Given the description of an element on the screen output the (x, y) to click on. 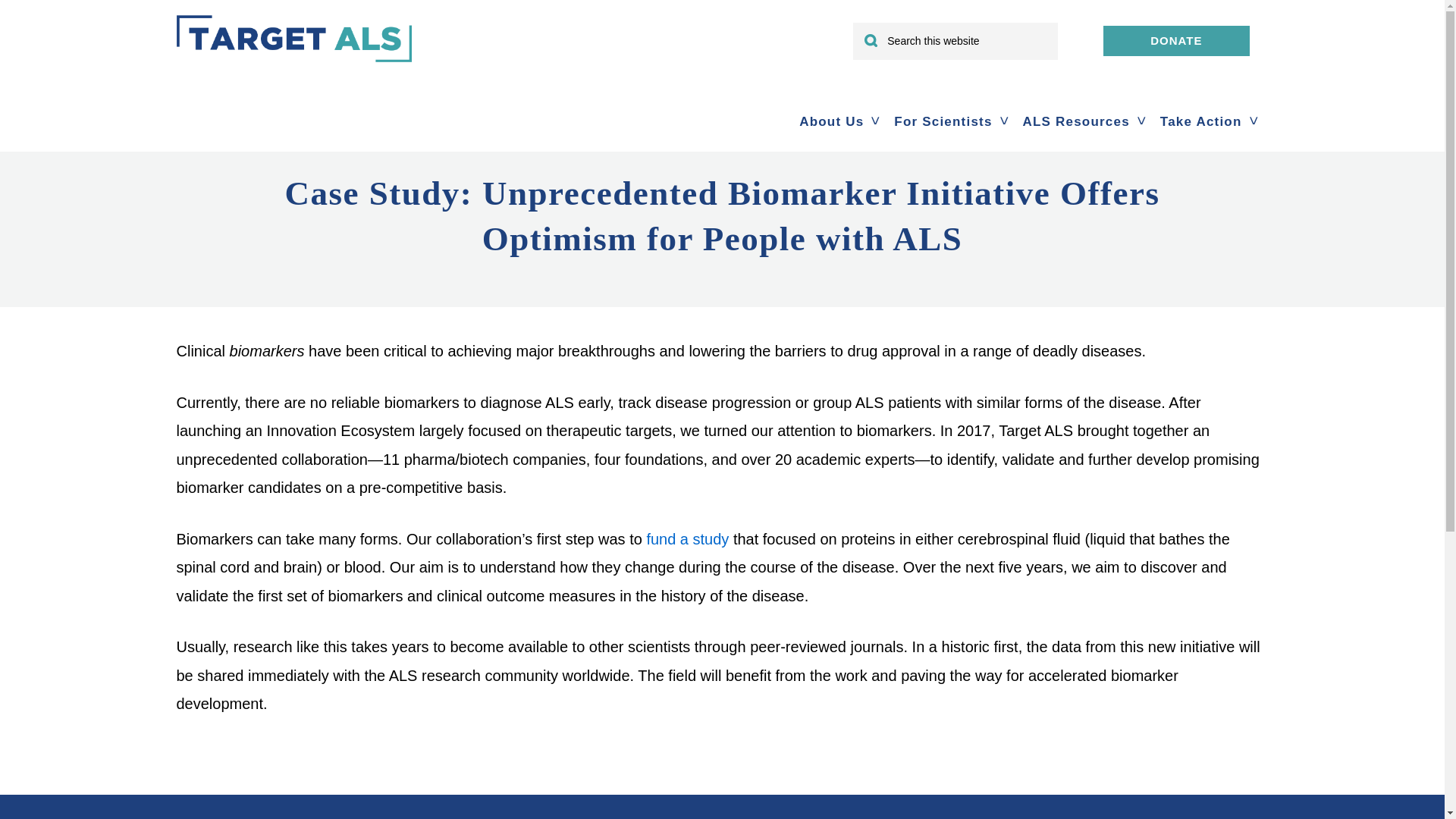
Search (1033, 31)
Search (1033, 31)
Take Action (1201, 121)
DONATE (1176, 40)
ALS Resources (1075, 121)
TARGET ALS (293, 60)
About Us (831, 121)
For Scientists (942, 121)
Search (1033, 31)
